Given the description of an element on the screen output the (x, y) to click on. 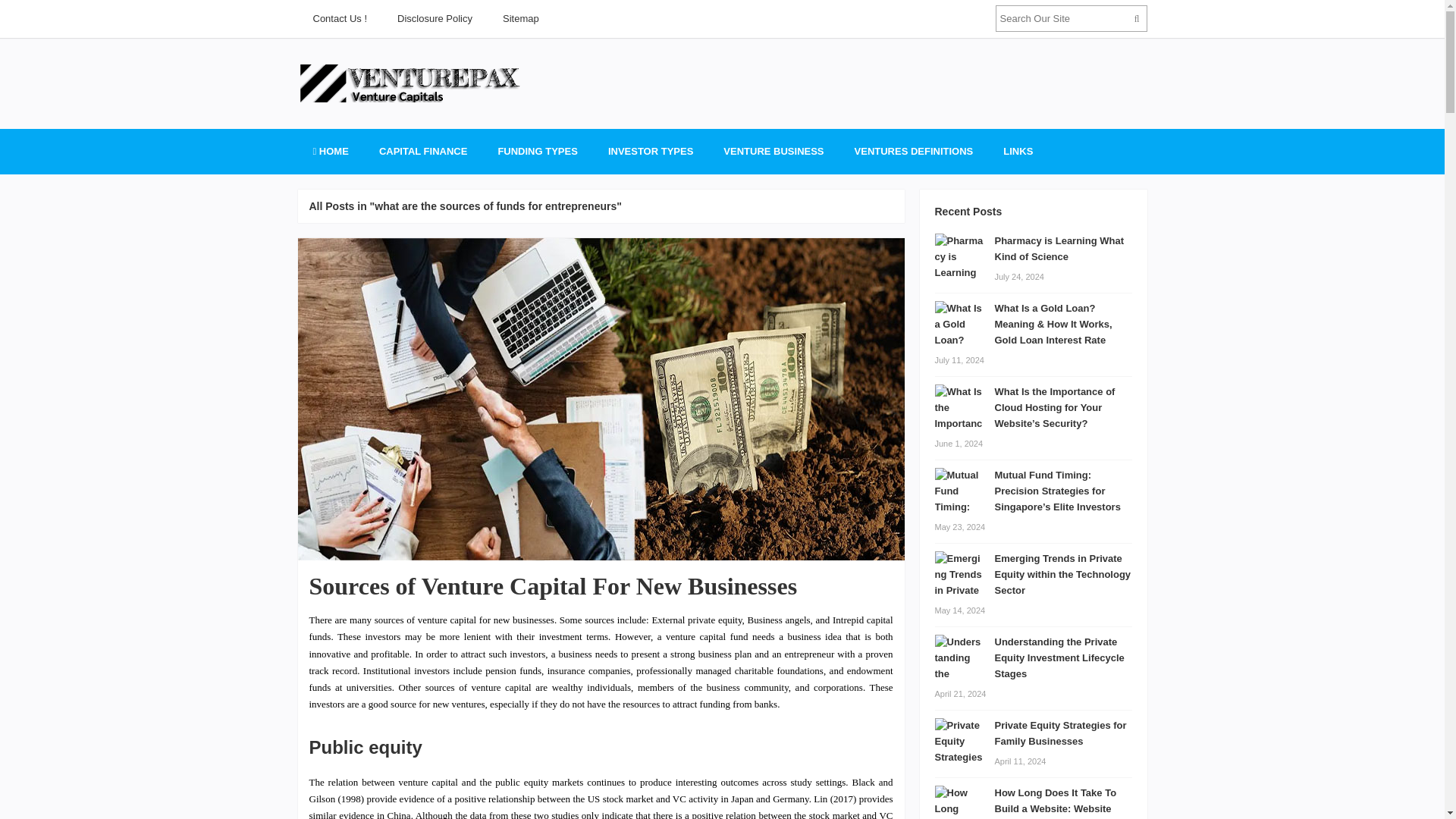
FUNDING TYPES (536, 151)
LINKS (1018, 151)
CAPITAL FINANCE (423, 151)
INVESTOR TYPES (649, 151)
Sources of Venture Capital For New Businesses (552, 585)
VENTURES DEFINITIONS (914, 151)
HOME (329, 151)
Sitemap (520, 18)
Contact Us ! (339, 18)
Disclosure Policy (434, 18)
VENTURE BUSINESS (772, 151)
